Given the description of an element on the screen output the (x, y) to click on. 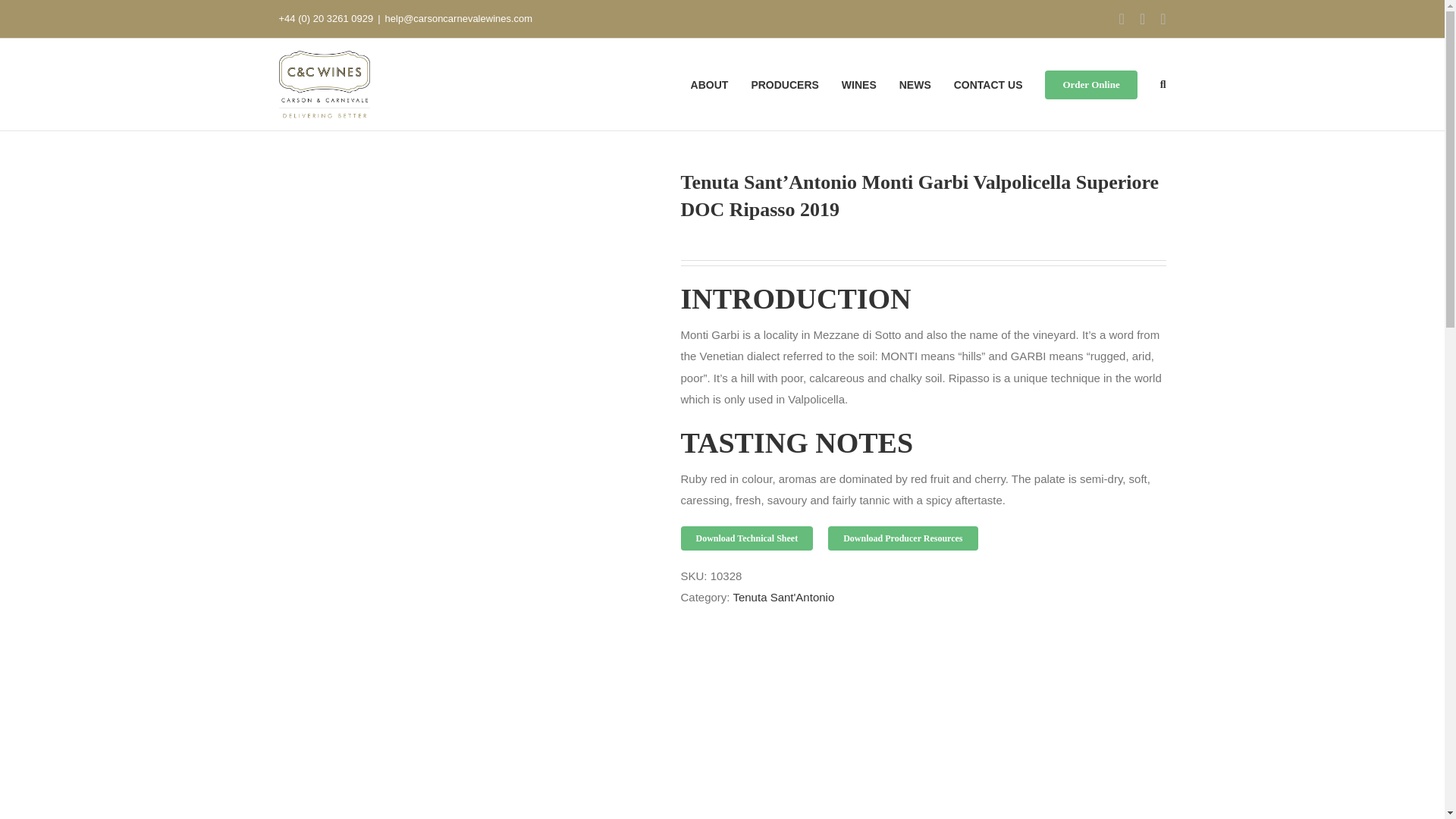
Order Online (1091, 84)
Tenuta Sant'Antonio (783, 596)
Download Producer Resources (902, 538)
Download Technical Sheet (747, 538)
